Given the description of an element on the screen output the (x, y) to click on. 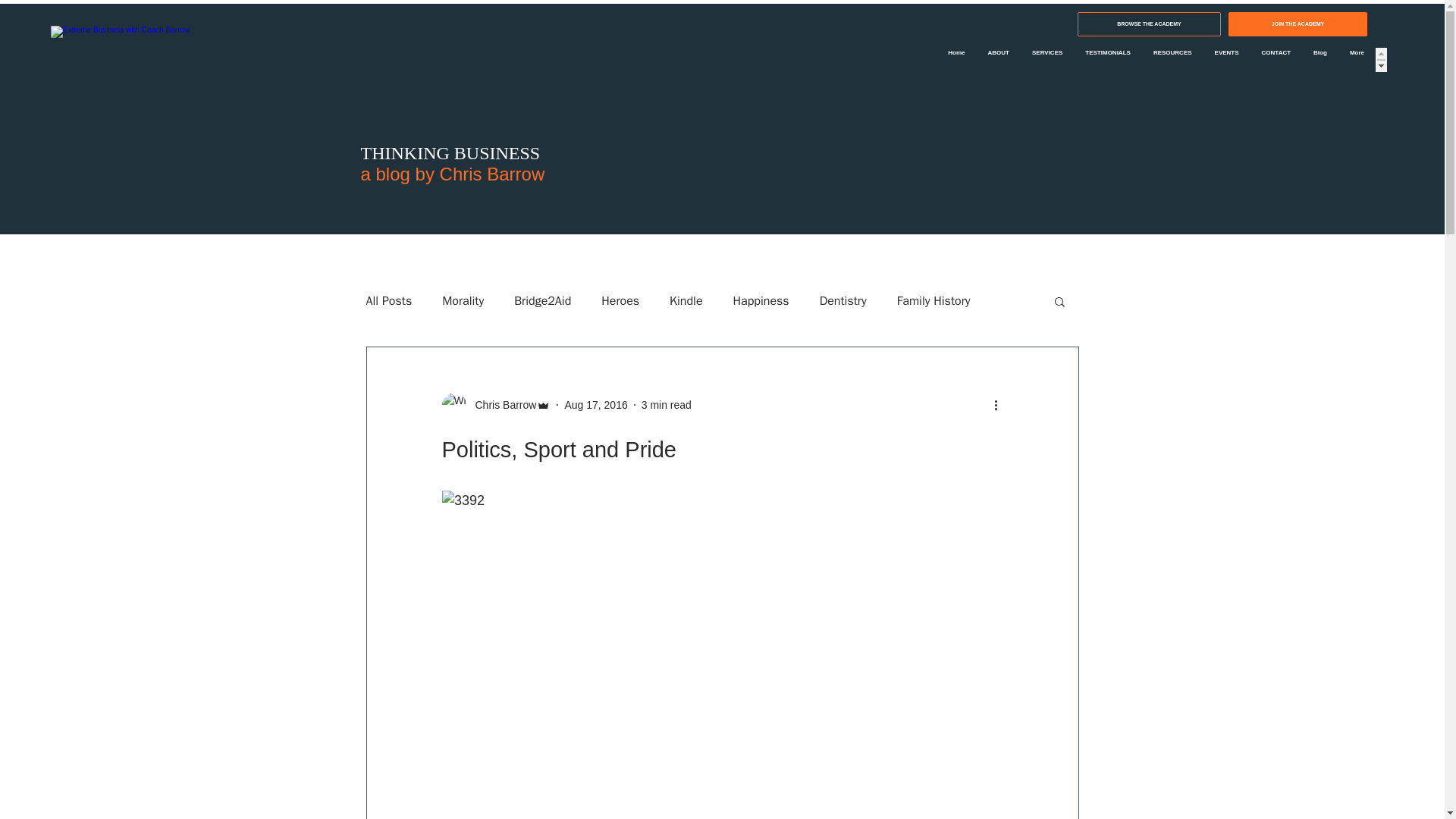
Bridge2Aid (541, 300)
Home (955, 60)
Dentistry (842, 300)
Blog (1319, 60)
RESOURCES (1172, 60)
TESTIMONIALS (1107, 60)
Happiness (761, 300)
ABOUT (998, 60)
Kindle (685, 300)
BROWSE THE ACADEMY (1149, 24)
